Given the description of an element on the screen output the (x, y) to click on. 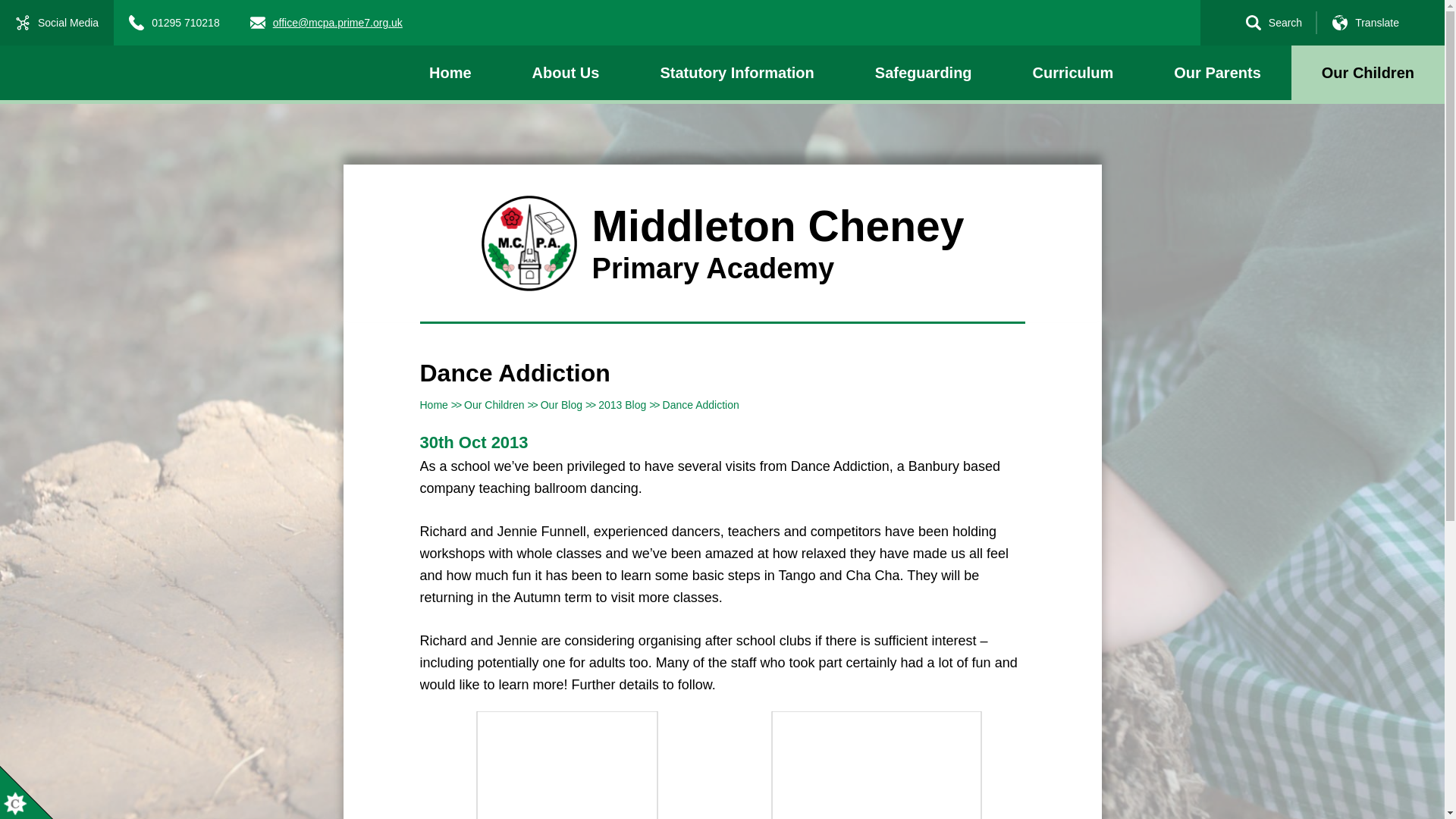
Curriculum (1073, 72)
Safeguarding (923, 72)
Social Media (56, 22)
01295 710218 (173, 22)
Home Page (528, 242)
Translate (1365, 22)
Home (450, 72)
Search (1273, 22)
Statutory Information (736, 72)
About Us (566, 72)
